Given the description of an element on the screen output the (x, y) to click on. 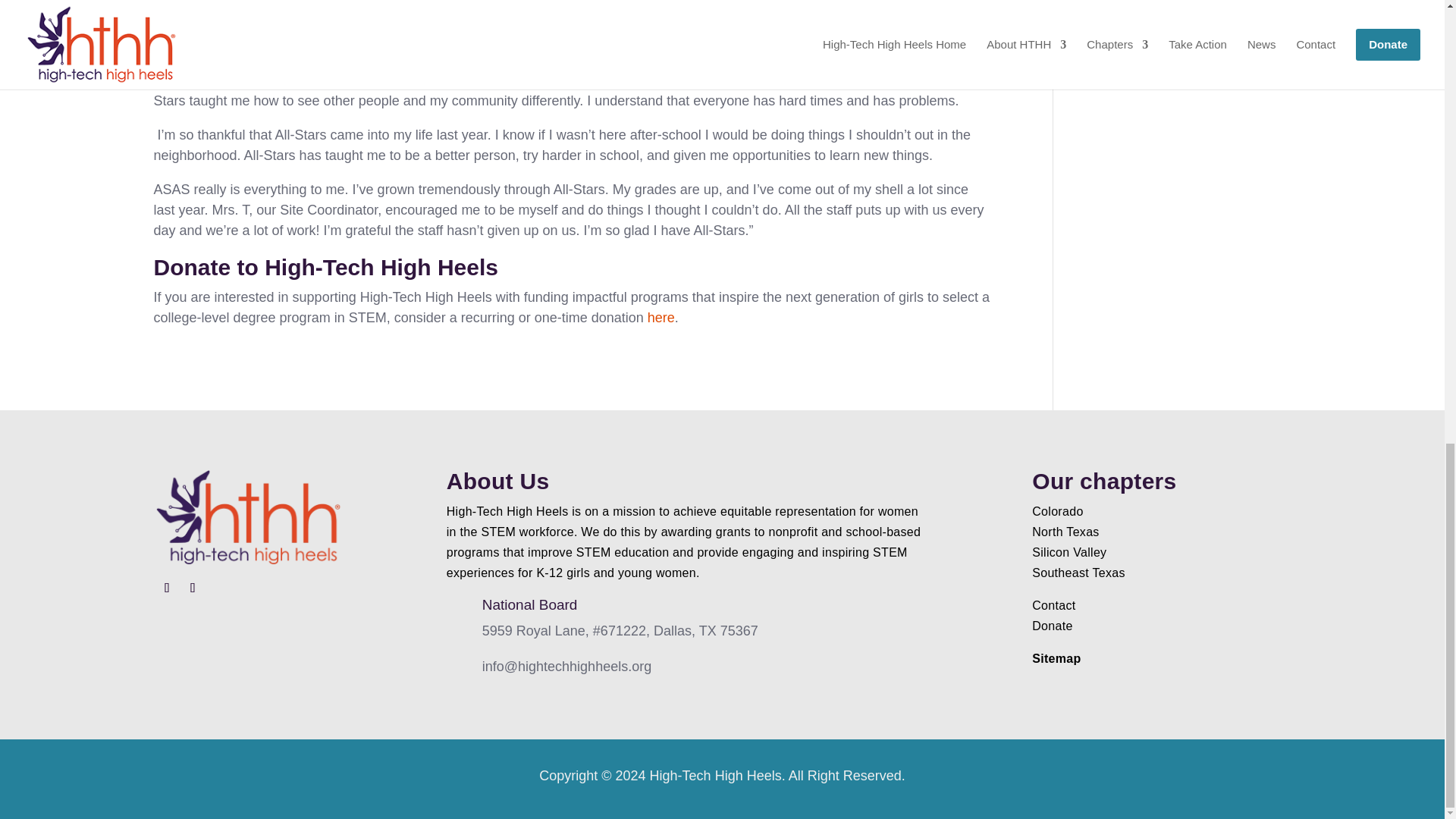
here (661, 317)
